Given the description of an element on the screen output the (x, y) to click on. 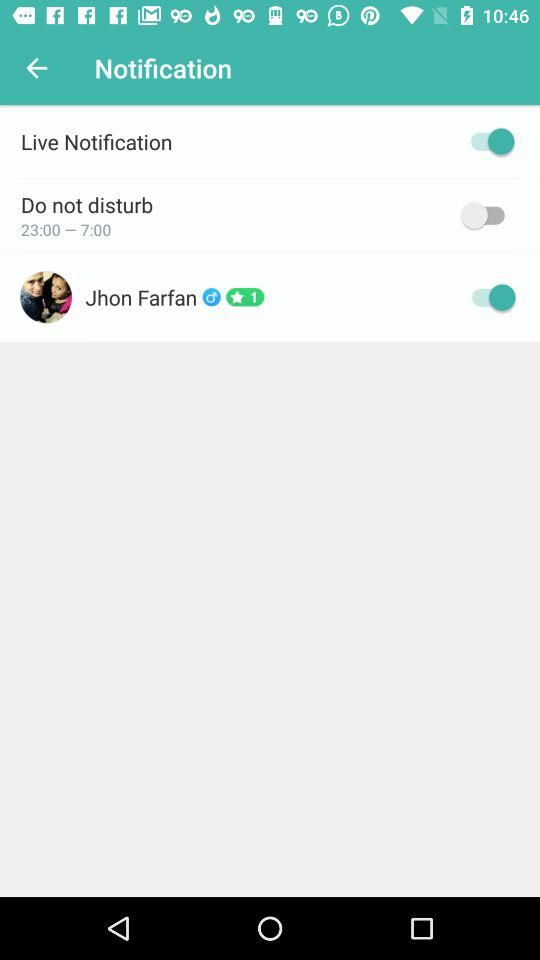
toggle feature enable/ disable button (487, 215)
